Given the description of an element on the screen output the (x, y) to click on. 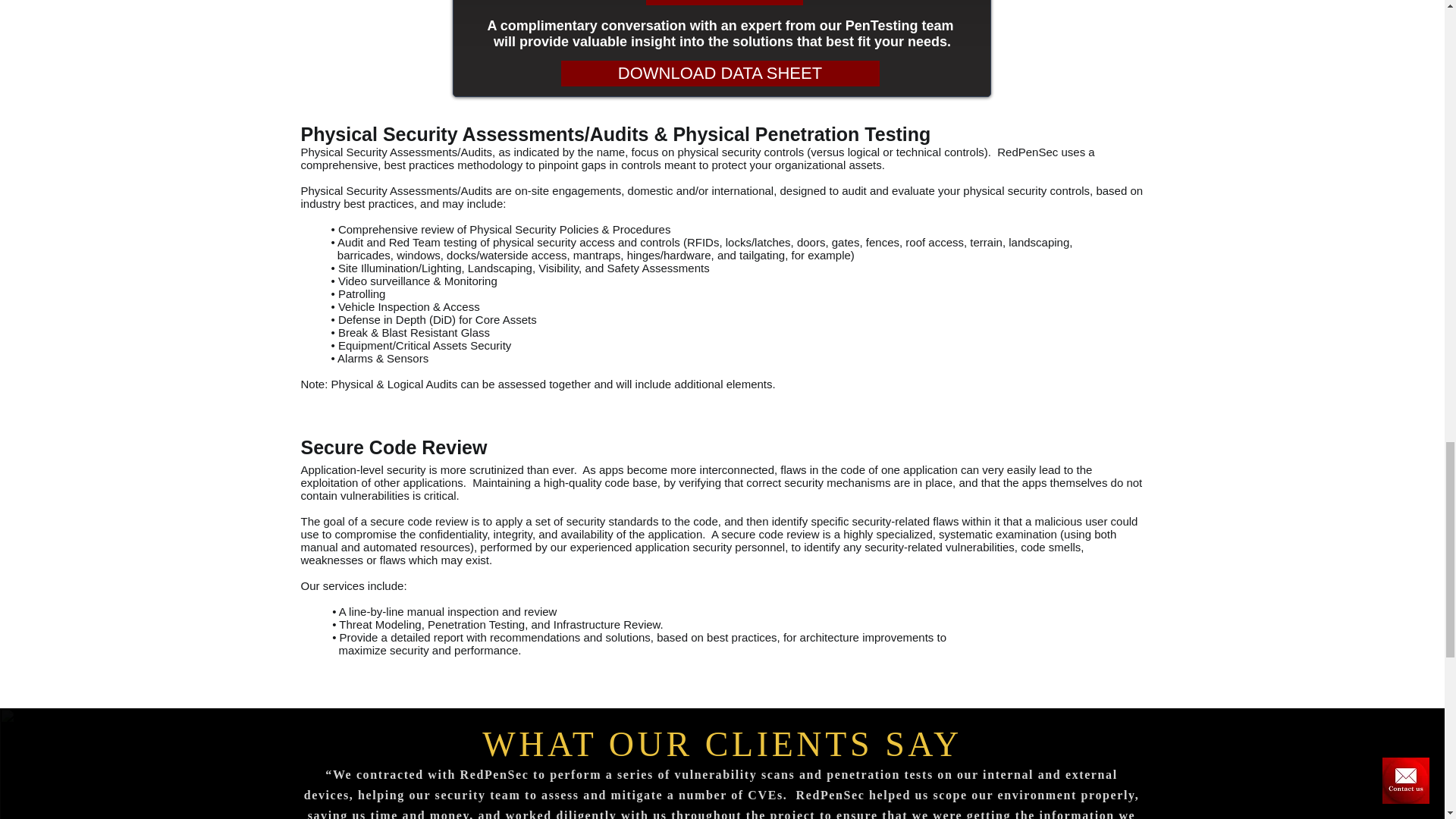
LET'S TALK (724, 2)
DOWNLOAD DATA SHEET (719, 73)
